Given the description of an element on the screen output the (x, y) to click on. 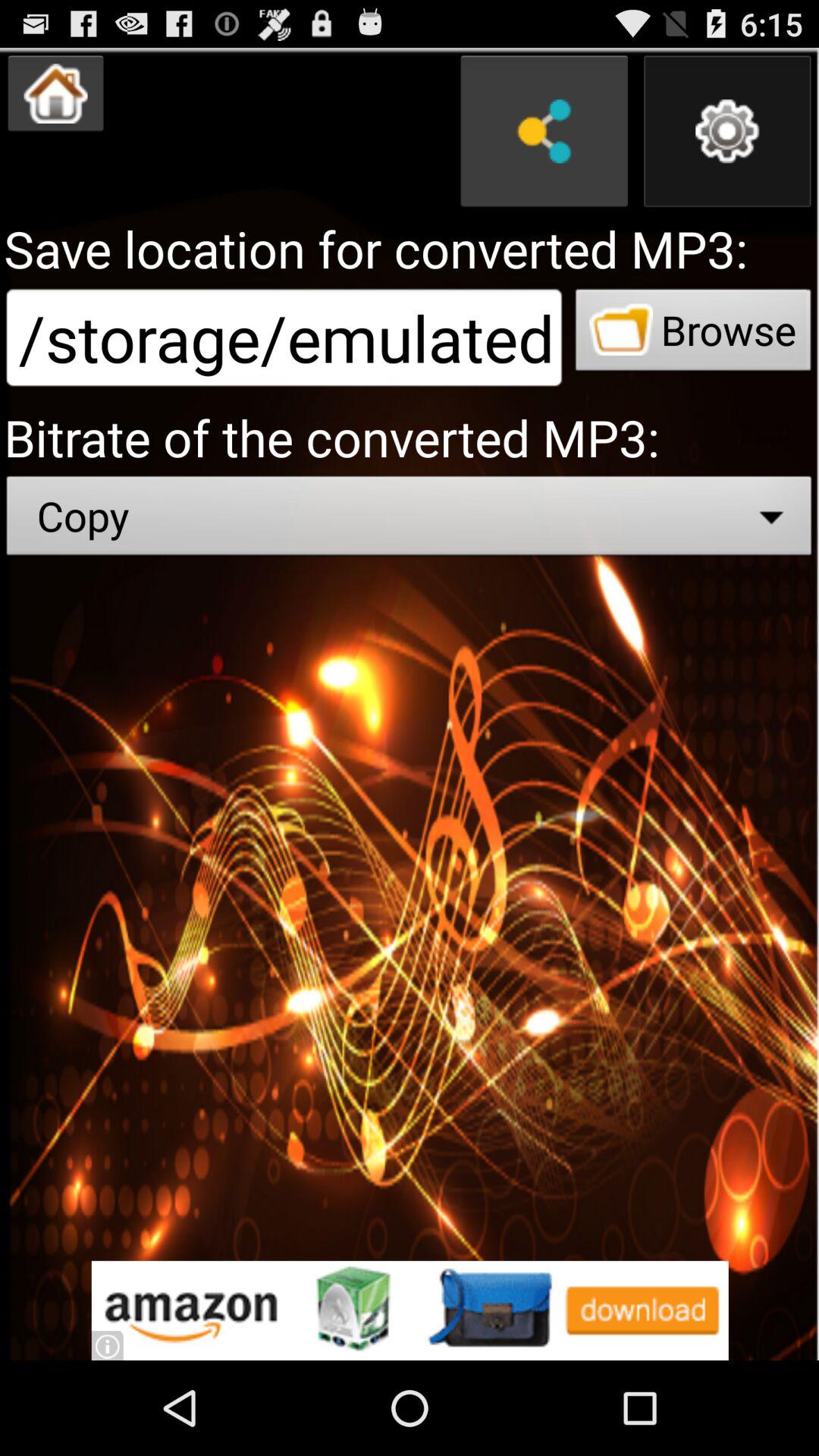
share the mp3 (543, 130)
